Given the description of an element on the screen output the (x, y) to click on. 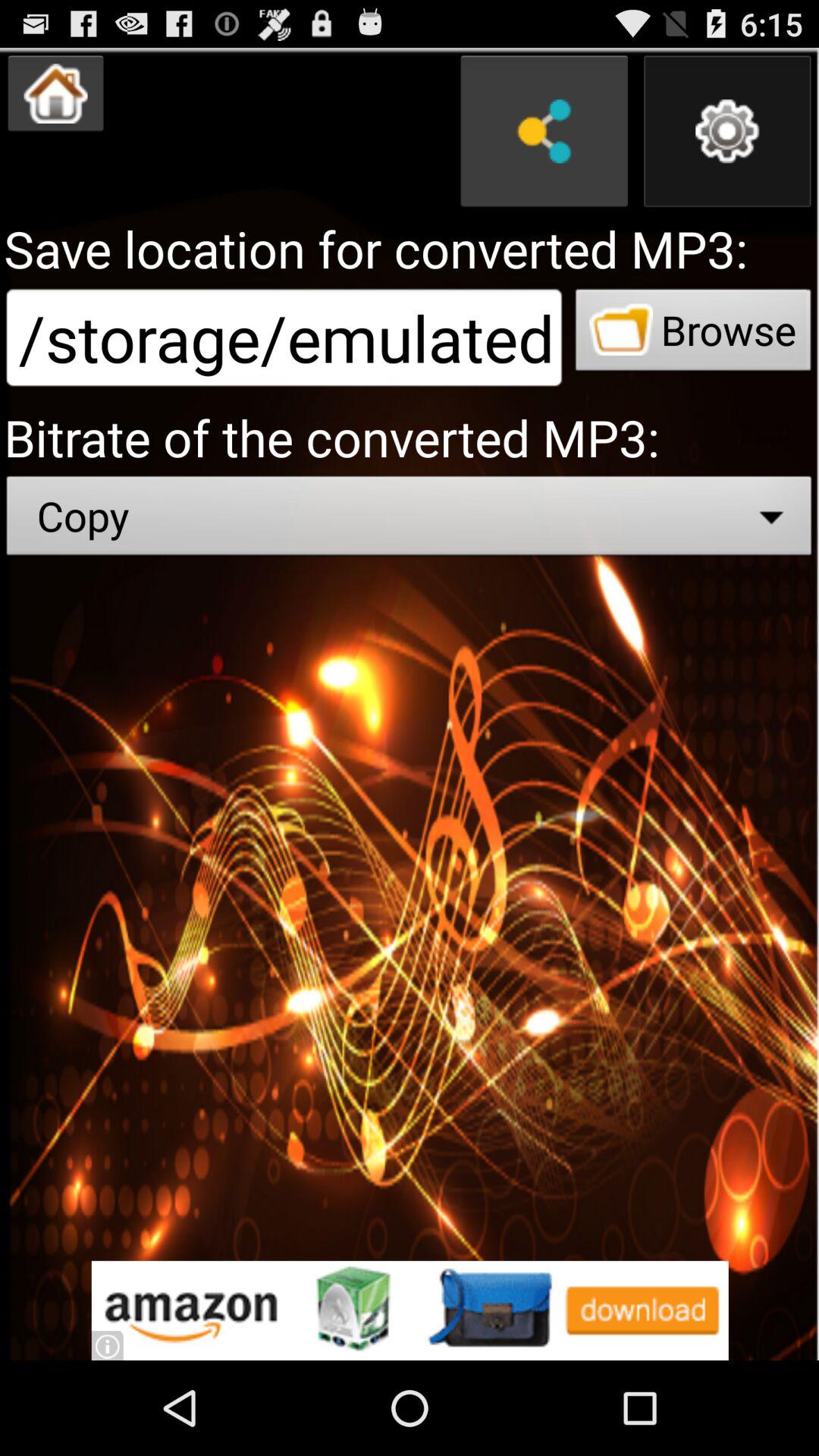
share the mp3 (543, 130)
